Given the description of an element on the screen output the (x, y) to click on. 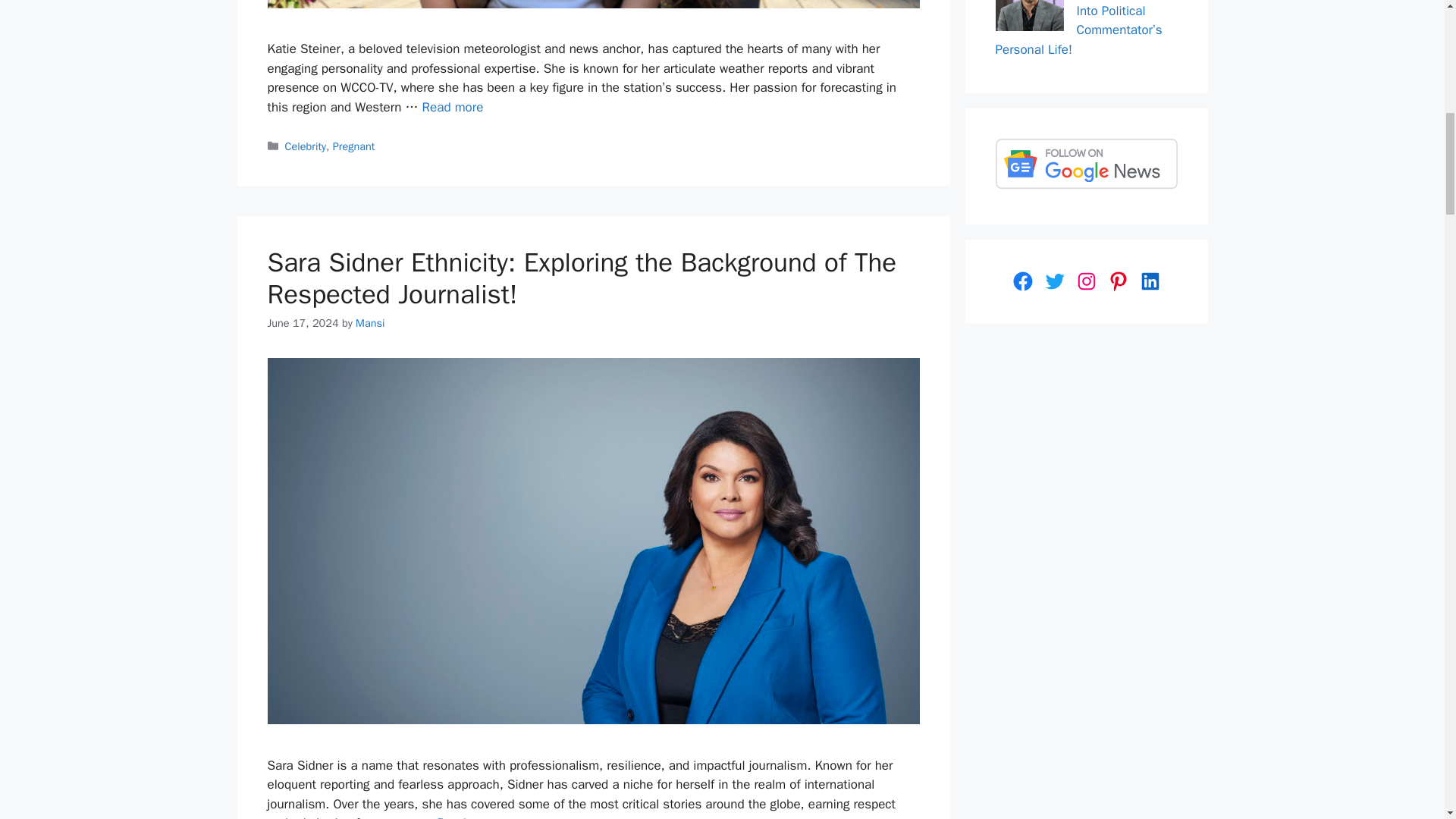
Pregnant (354, 146)
Mansi (369, 323)
Read more (468, 816)
View all posts by Mansi (369, 323)
Read more (452, 107)
Celebrity (305, 146)
